Given the description of an element on the screen output the (x, y) to click on. 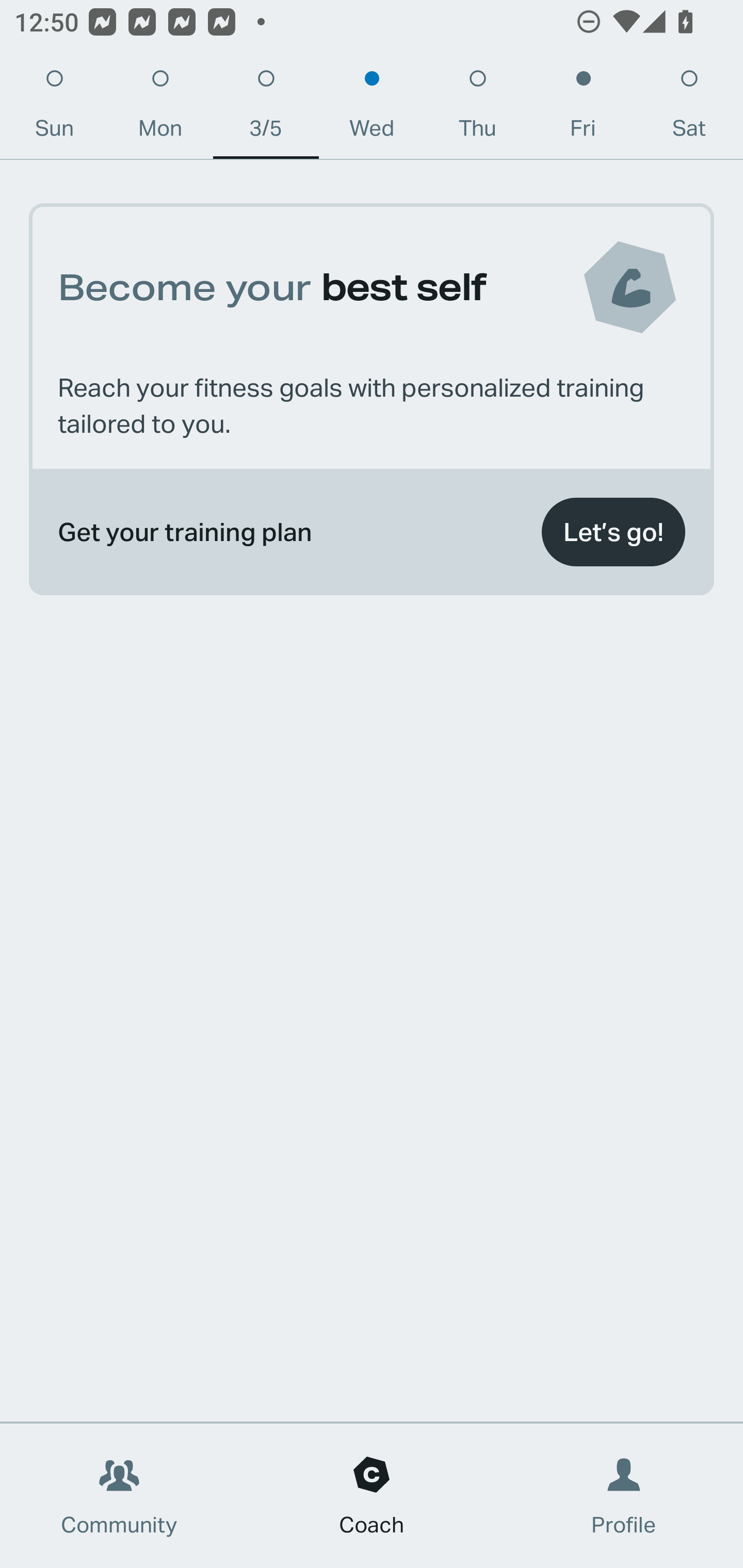
Sun (53, 108)
Mon (159, 108)
3/5 (265, 108)
Wed (371, 108)
Thu (477, 108)
Fri (583, 108)
Sat (689, 108)
Let’s go! (613, 532)
Community (119, 1495)
Profile (624, 1495)
